Given the description of an element on the screen output the (x, y) to click on. 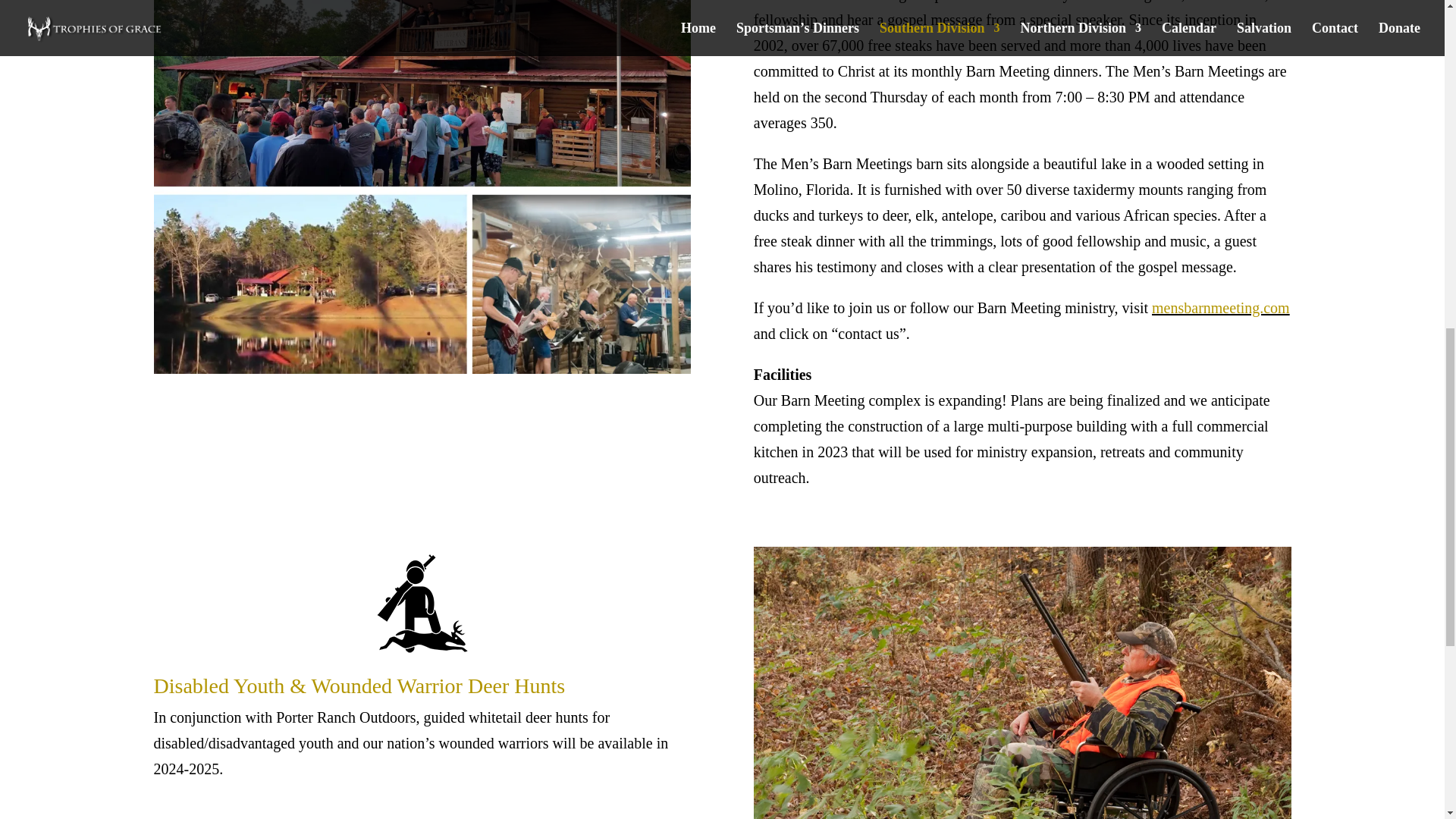
mensbarnmeeting.com (1220, 307)
